Given the description of an element on the screen output the (x, y) to click on. 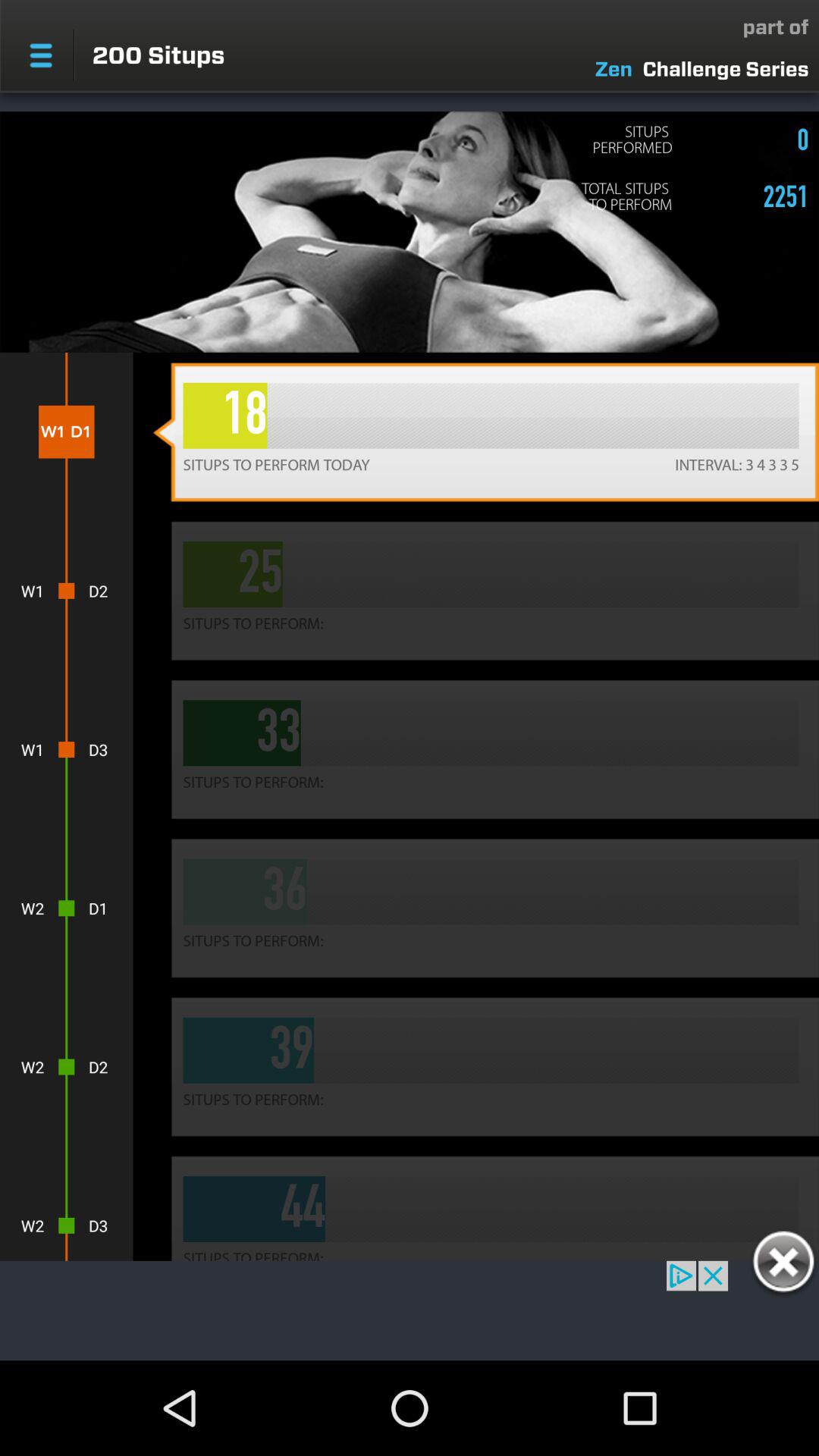
advertisement field (409, 1310)
